Given the description of an element on the screen output the (x, y) to click on. 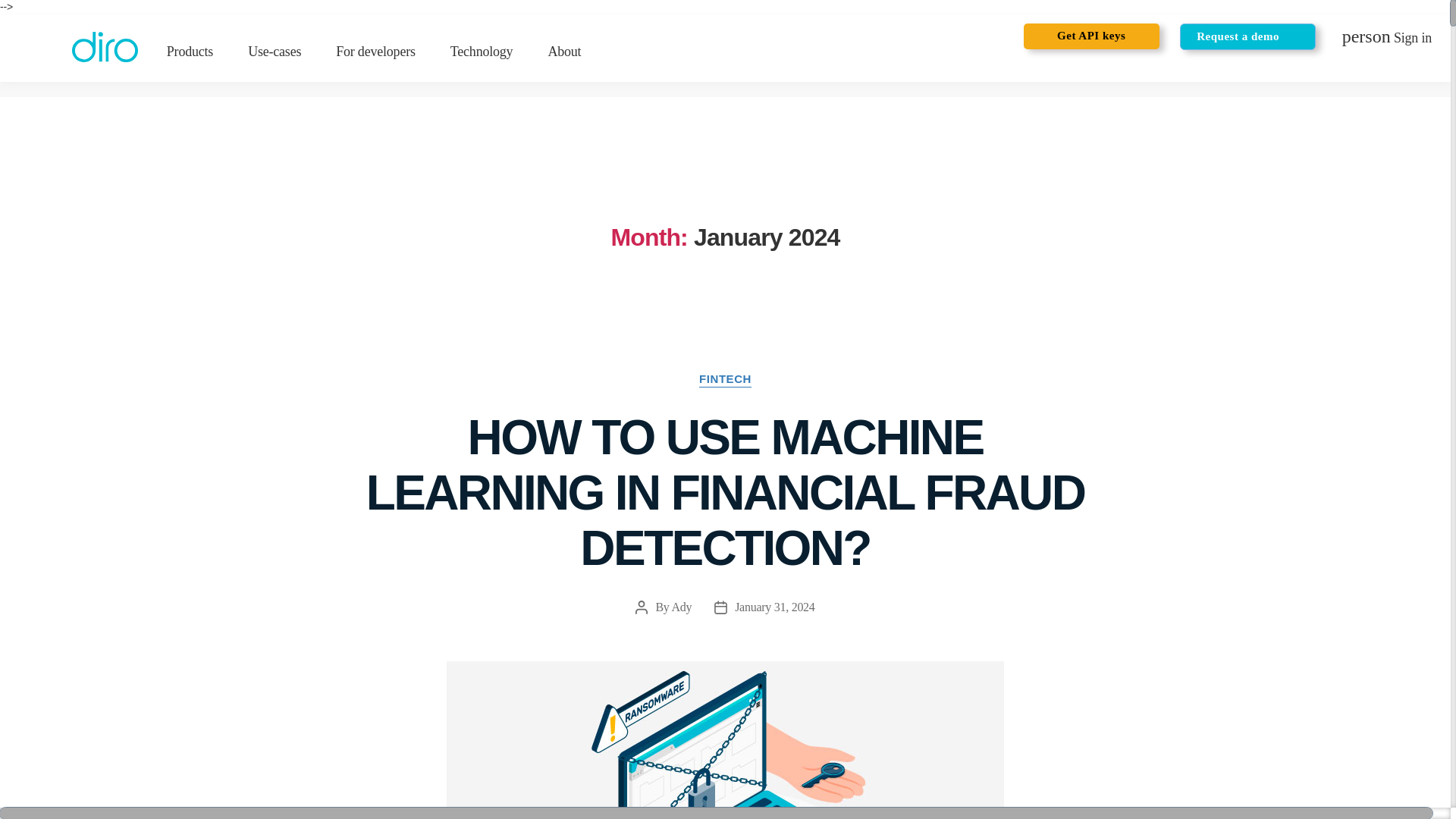
FINTECH (724, 379)
Request a demo (1237, 36)
HOW TO USE MACHINE LEARNING IN FINANCIAL FRAUD DETECTION? (725, 492)
Get API keys (1090, 36)
Ady (681, 606)
Products (189, 51)
For developers (1386, 39)
Request a demo (375, 51)
About (1247, 36)
Technology (563, 51)
Use-cases (481, 51)
Get API keys (274, 51)
